Given the description of an element on the screen output the (x, y) to click on. 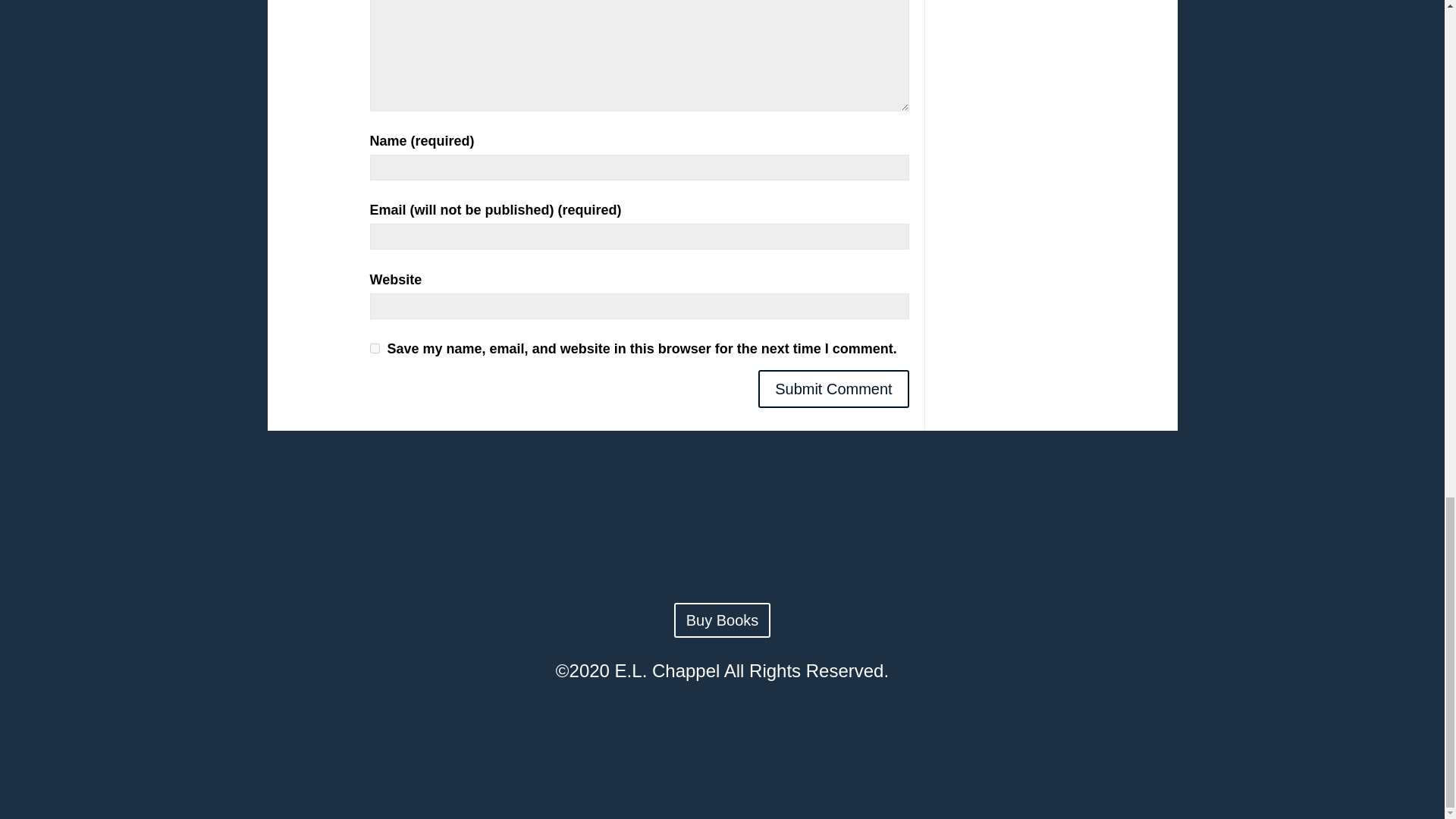
Submit Comment (833, 388)
Buy Books (722, 620)
Submit Comment (833, 388)
circleornament- (721, 546)
yes (374, 347)
